Given the description of an element on the screen output the (x, y) to click on. 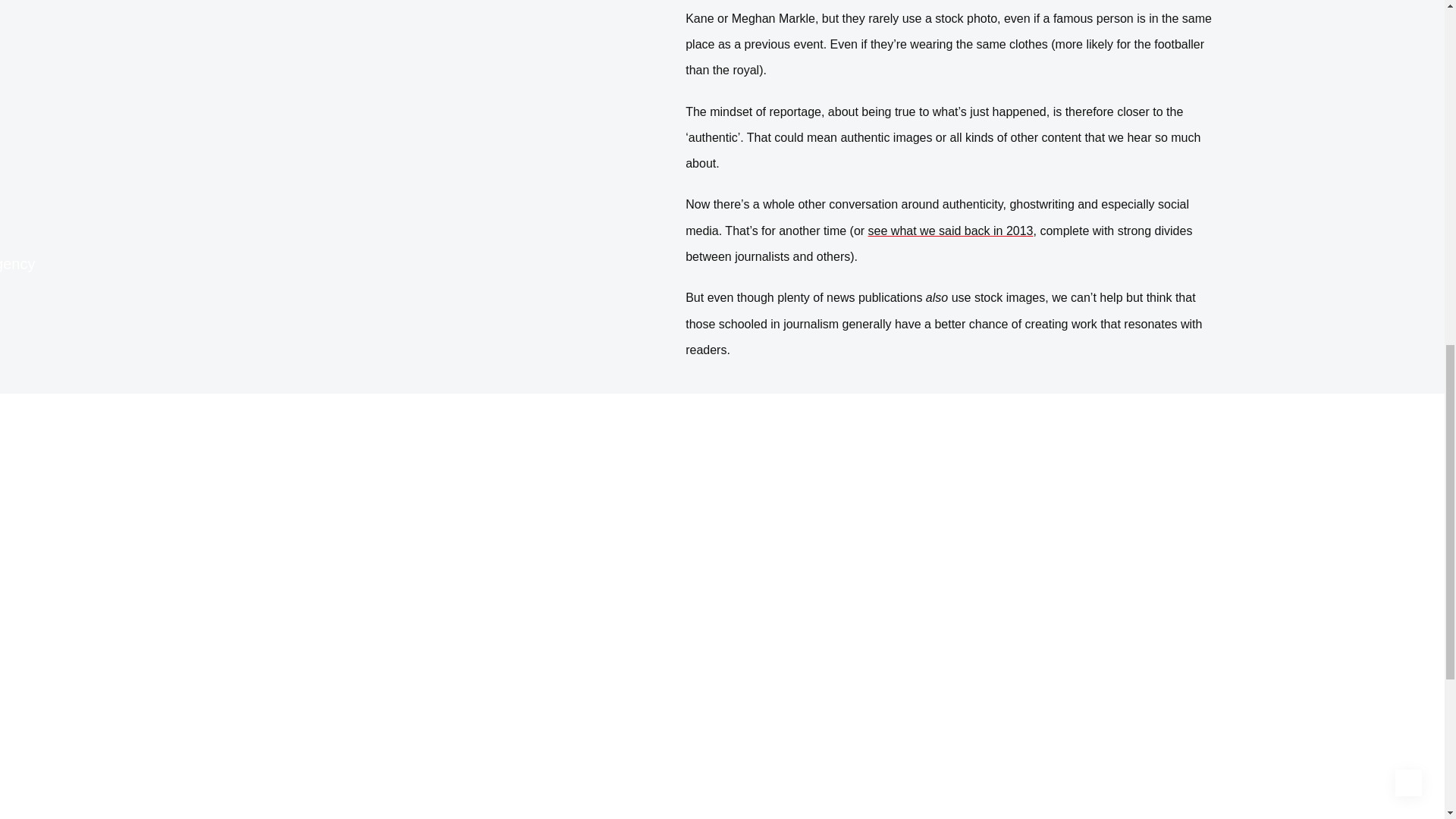
see what we said back in 2013 (950, 230)
